Given the description of an element on the screen output the (x, y) to click on. 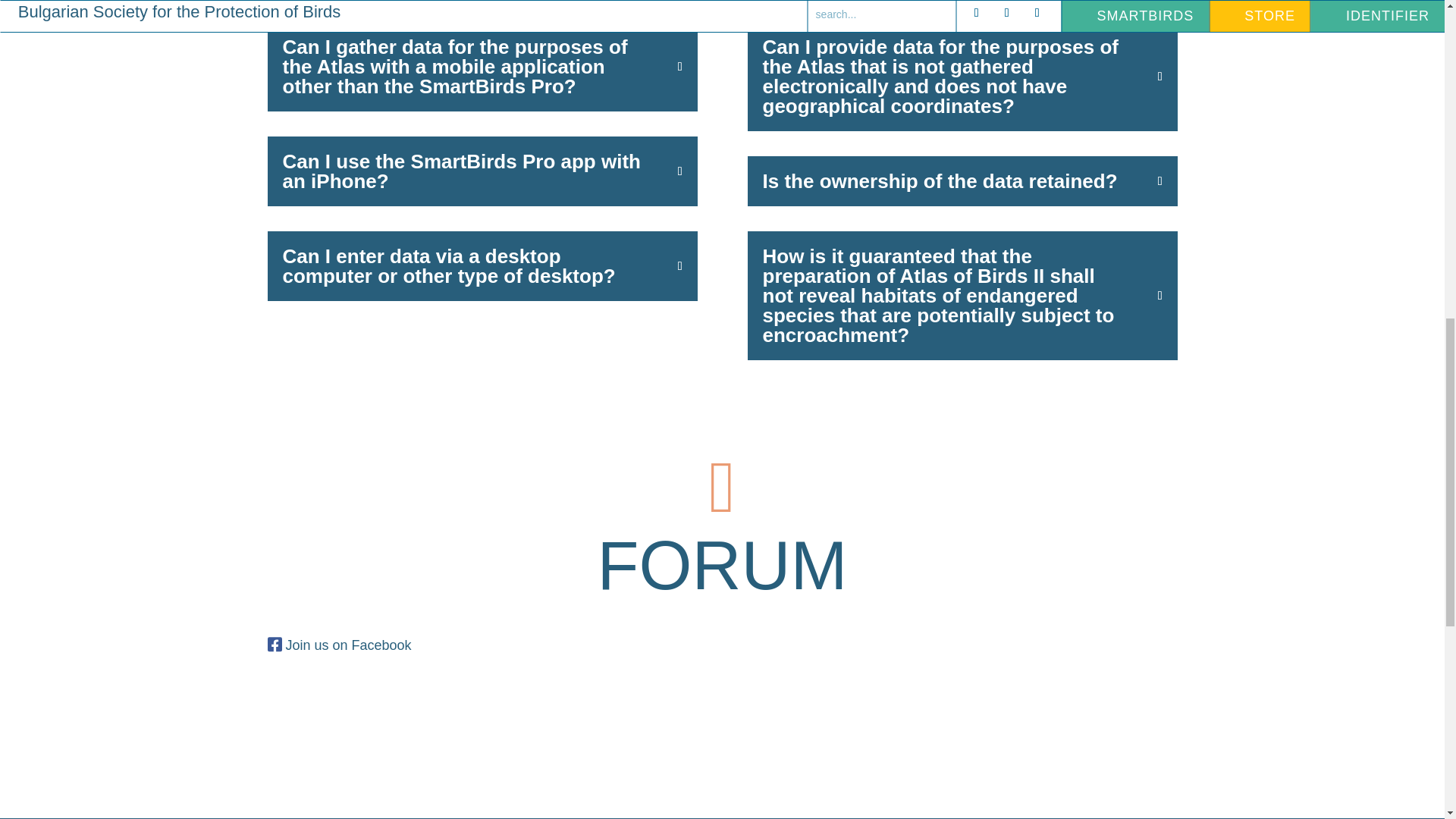
Join us on Facebook (347, 645)
